Given the description of an element on the screen output the (x, y) to click on. 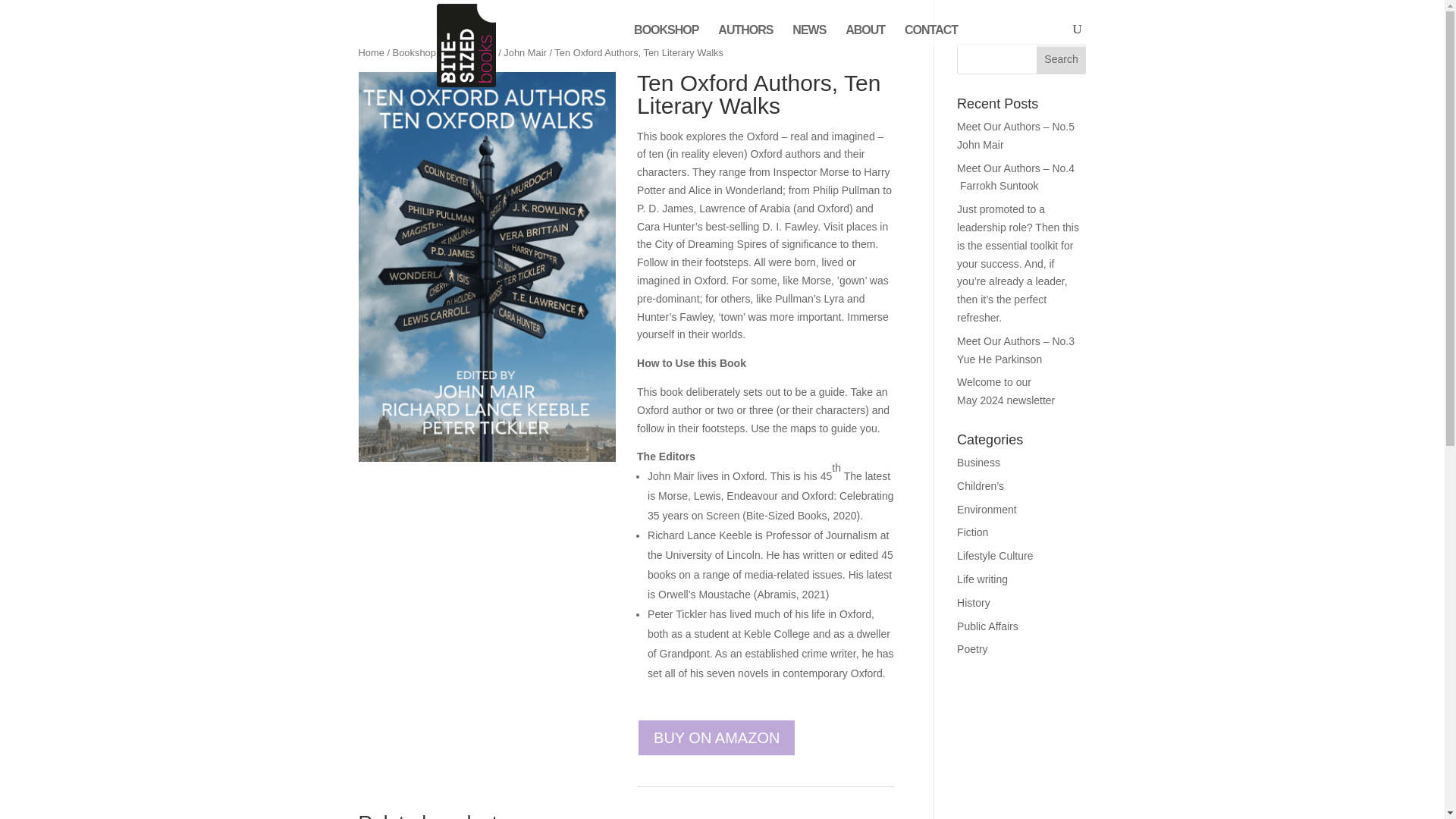
Home (371, 52)
BUY ON AMAZON (716, 737)
Life writing (981, 579)
Business (978, 462)
John Mair (525, 52)
Main author (470, 52)
NEWS (808, 35)
Lifestyle Culture (994, 555)
Search (1061, 59)
CONTACT (931, 35)
Welcome to our May 2024 newsletter (1005, 390)
Bookshop (414, 52)
BOOKSHOP (665, 35)
AUTHORS (745, 35)
Fiction (972, 532)
